Given the description of an element on the screen output the (x, y) to click on. 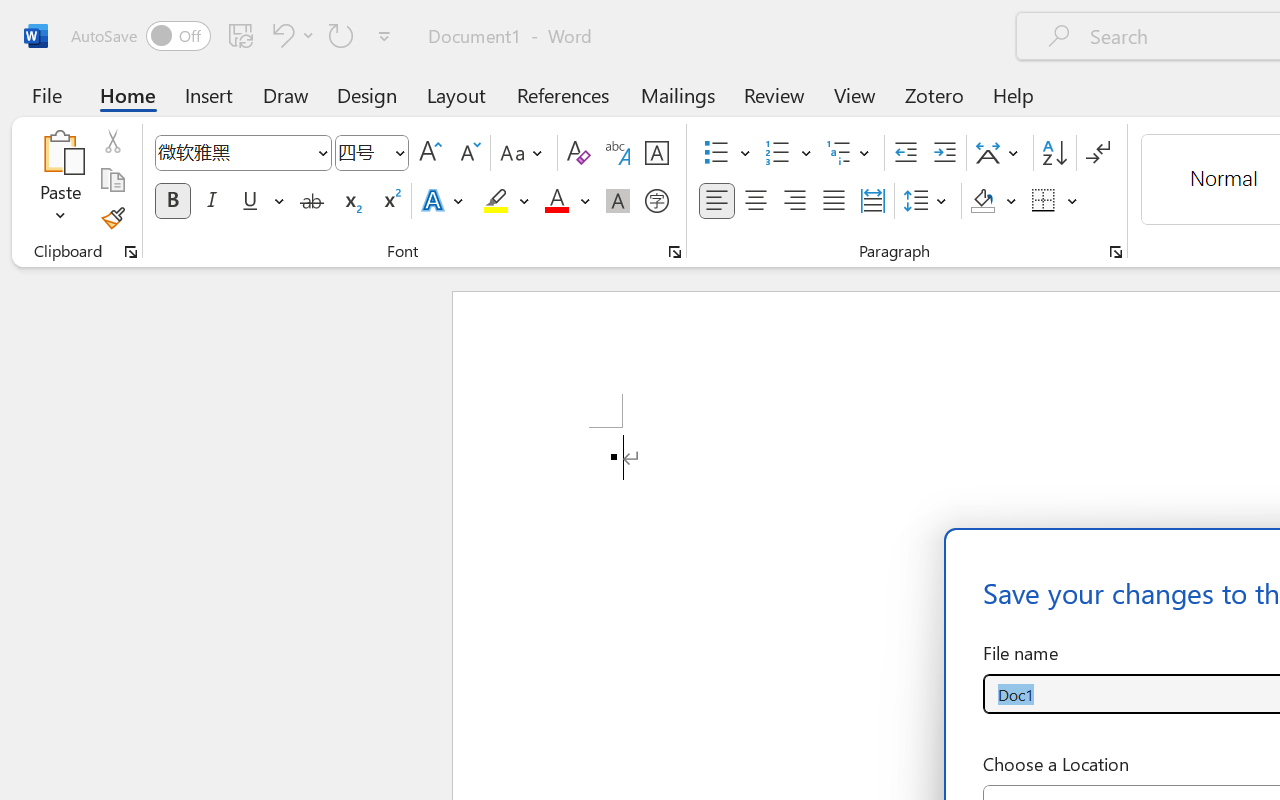
Undo <ApplyStyleToDoc>b__0 (280, 35)
